Given the description of an element on the screen output the (x, y) to click on. 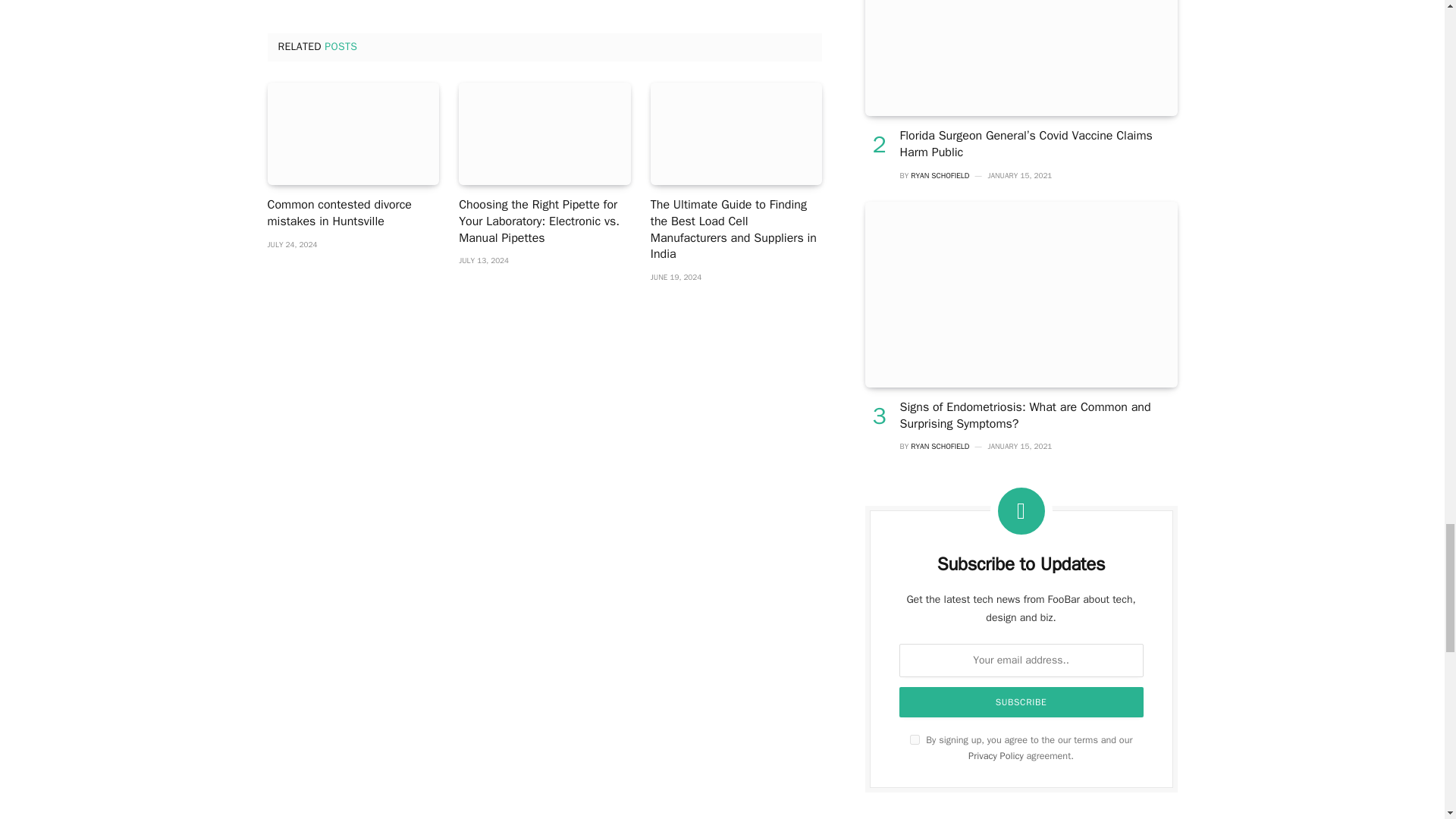
Subscribe (1020, 702)
on (915, 739)
